Given the description of an element on the screen output the (x, y) to click on. 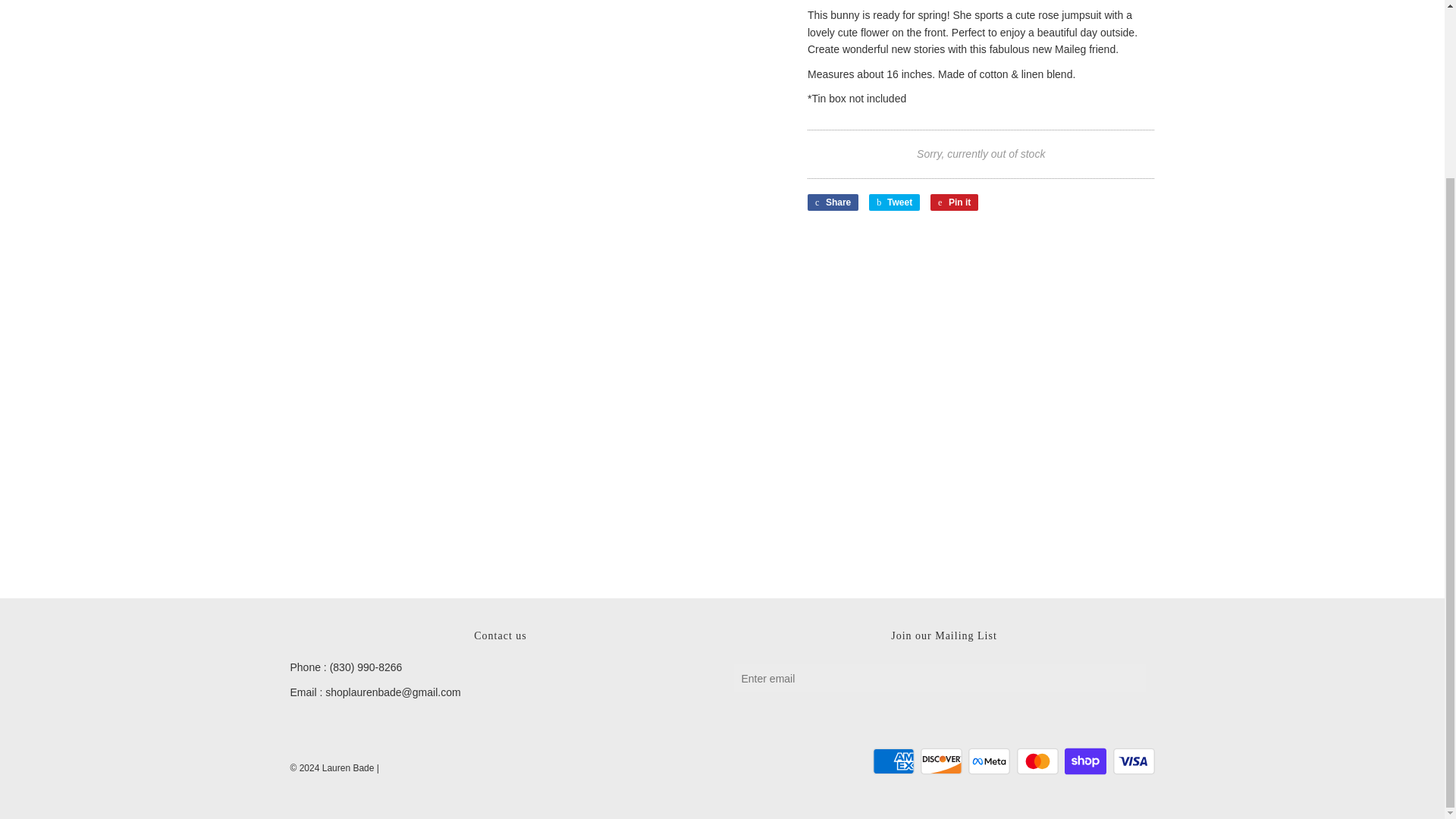
American Express (893, 761)
Meta Pay (989, 761)
Mastercard (1037, 761)
Shop Pay (1085, 761)
Discover (941, 761)
Visa (1133, 761)
